Given the description of an element on the screen output the (x, y) to click on. 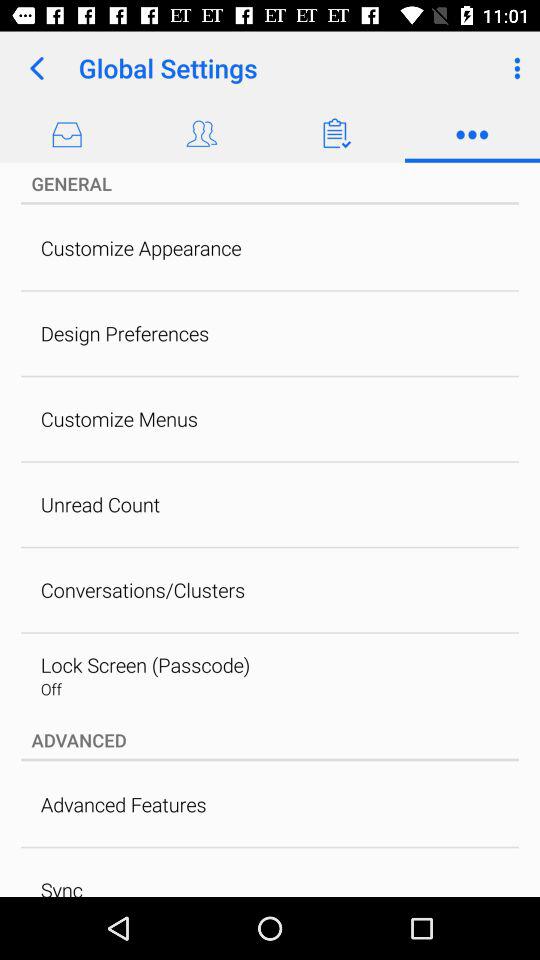
choose lock screen (passcode) icon (145, 664)
